Given the description of an element on the screen output the (x, y) to click on. 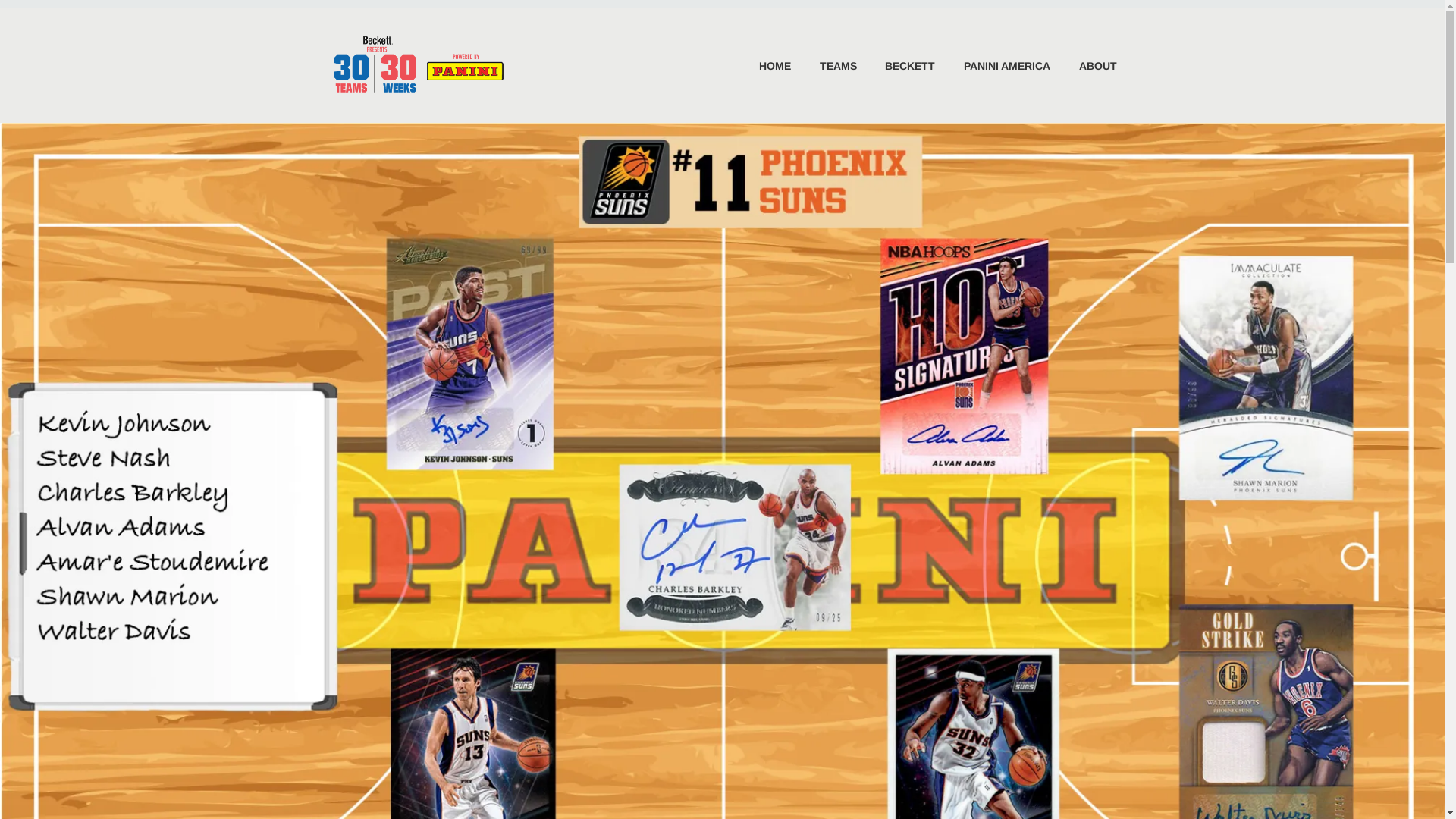
PANINI AMERICA Element type: text (994, 65)
ABOUT Element type: text (1085, 65)
30 TEAMS | 30 WEEKS NBA Element type: text (714, 43)
TEAMS Element type: text (824, 65)
HOME Element type: text (762, 65)
BECKETT Element type: text (897, 65)
